Given the description of an element on the screen output the (x, y) to click on. 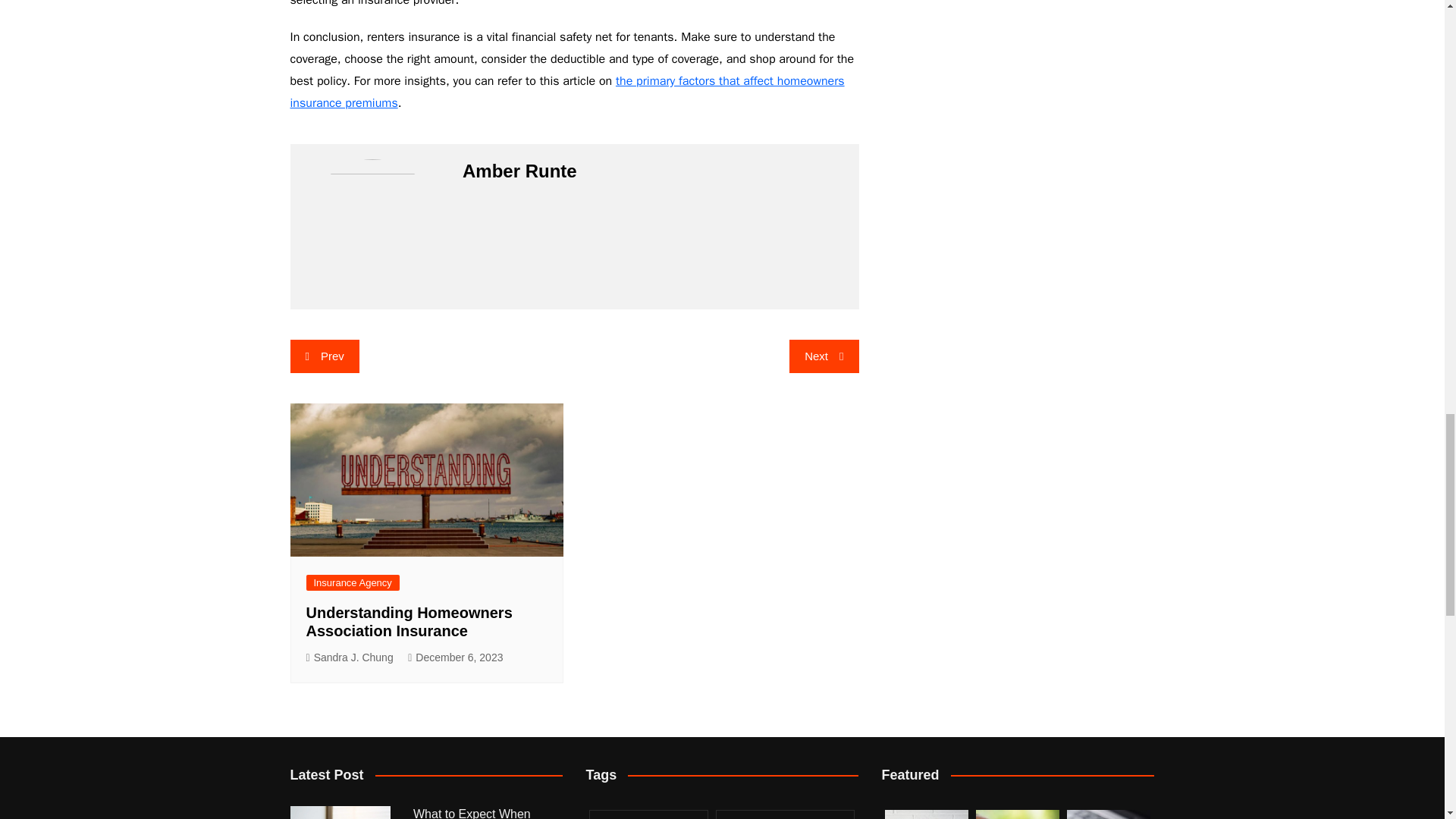
Insurance Agency (351, 582)
Next (824, 356)
December 6, 2023 (454, 657)
Understanding Homeowners Association Insurance (408, 621)
Sandra J. Chung (349, 657)
Prev (323, 356)
